Given the description of an element on the screen output the (x, y) to click on. 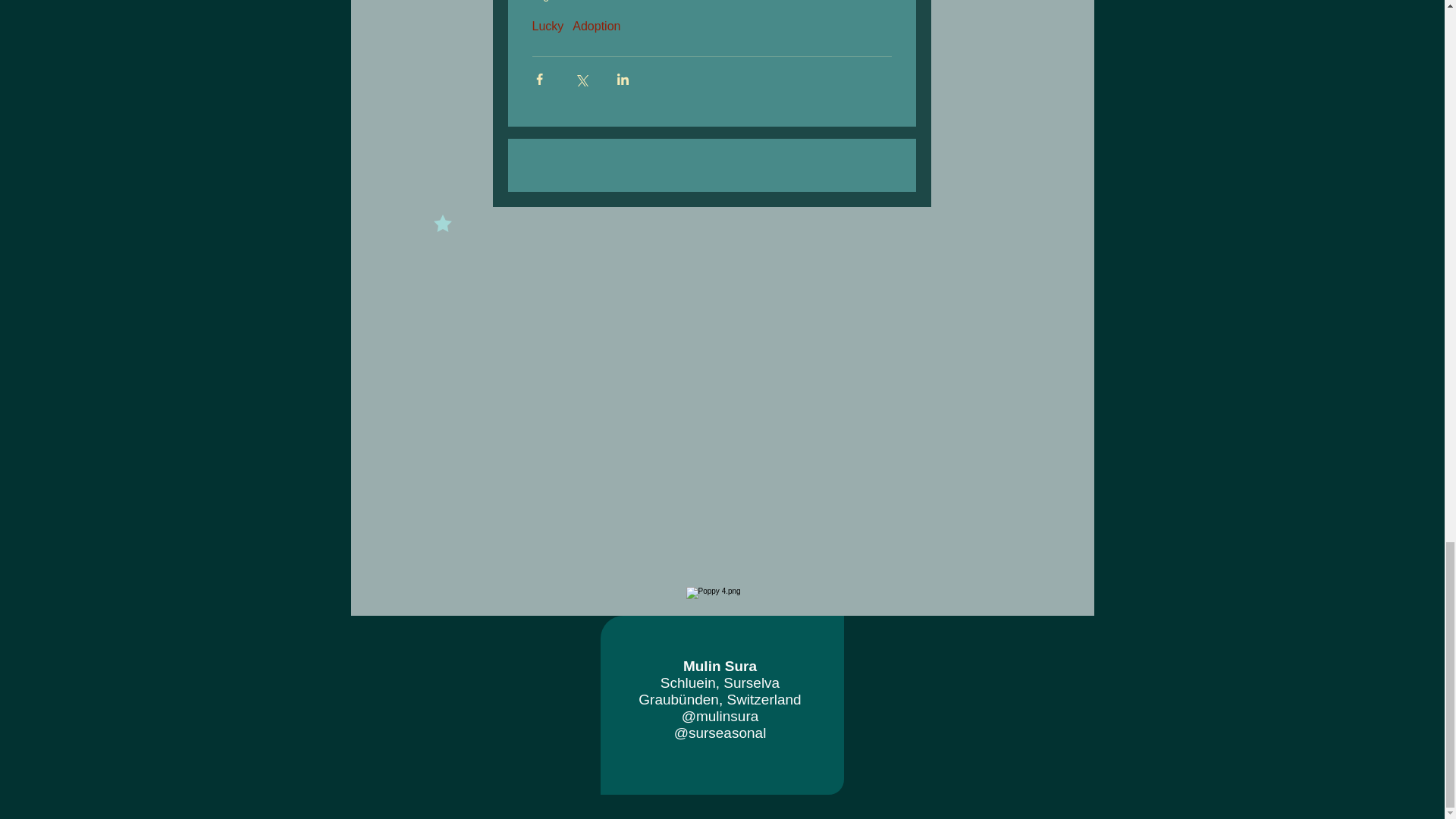
Lucky (548, 26)
Adoption (596, 26)
